Given the description of an element on the screen output the (x, y) to click on. 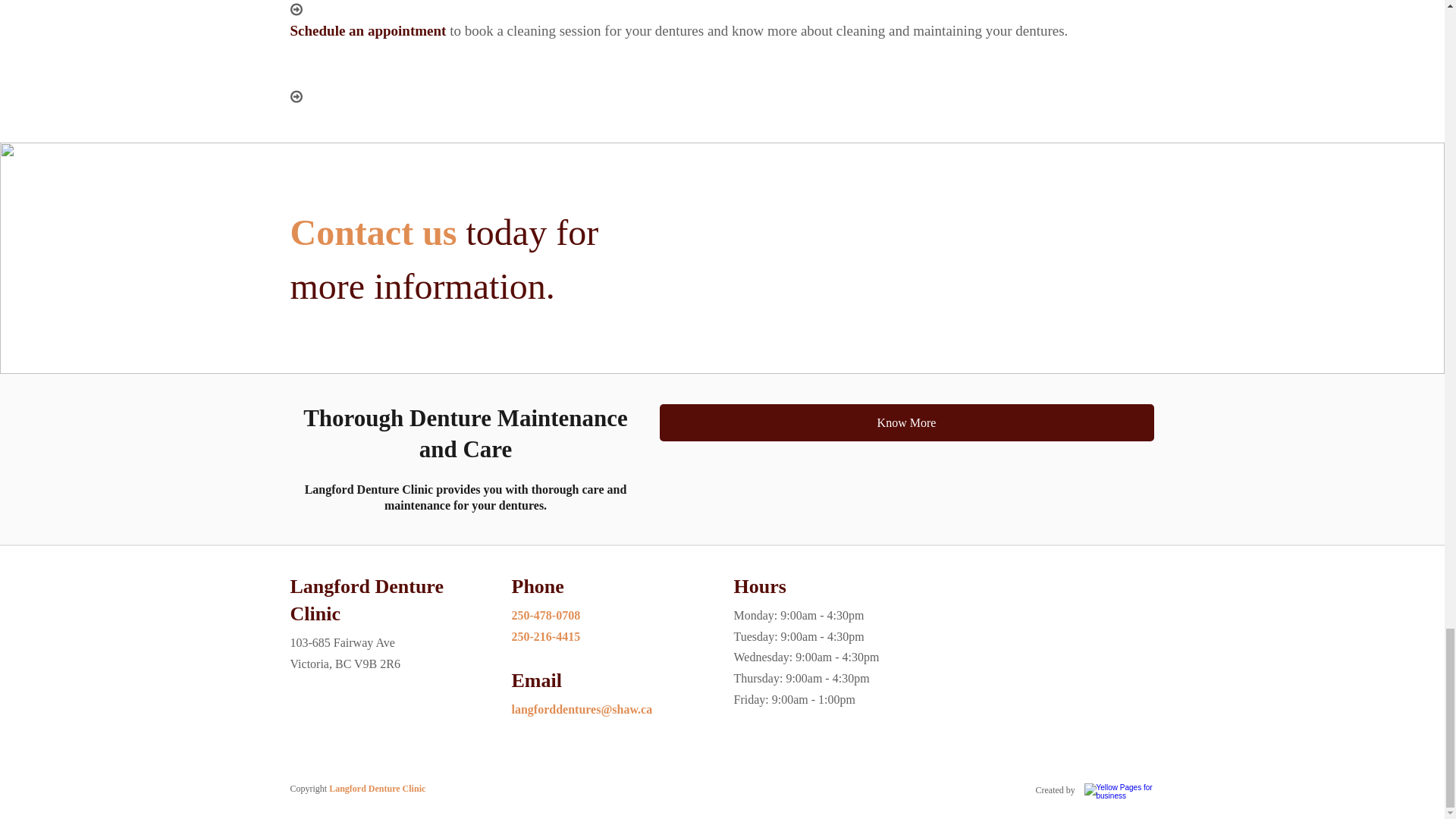
Know More (906, 422)
250-216-4415 (545, 635)
Schedule an appointment (367, 30)
Contact us (373, 232)
Langford Denture Clinic (377, 787)
250-478-0708 (545, 615)
